Given the description of an element on the screen output the (x, y) to click on. 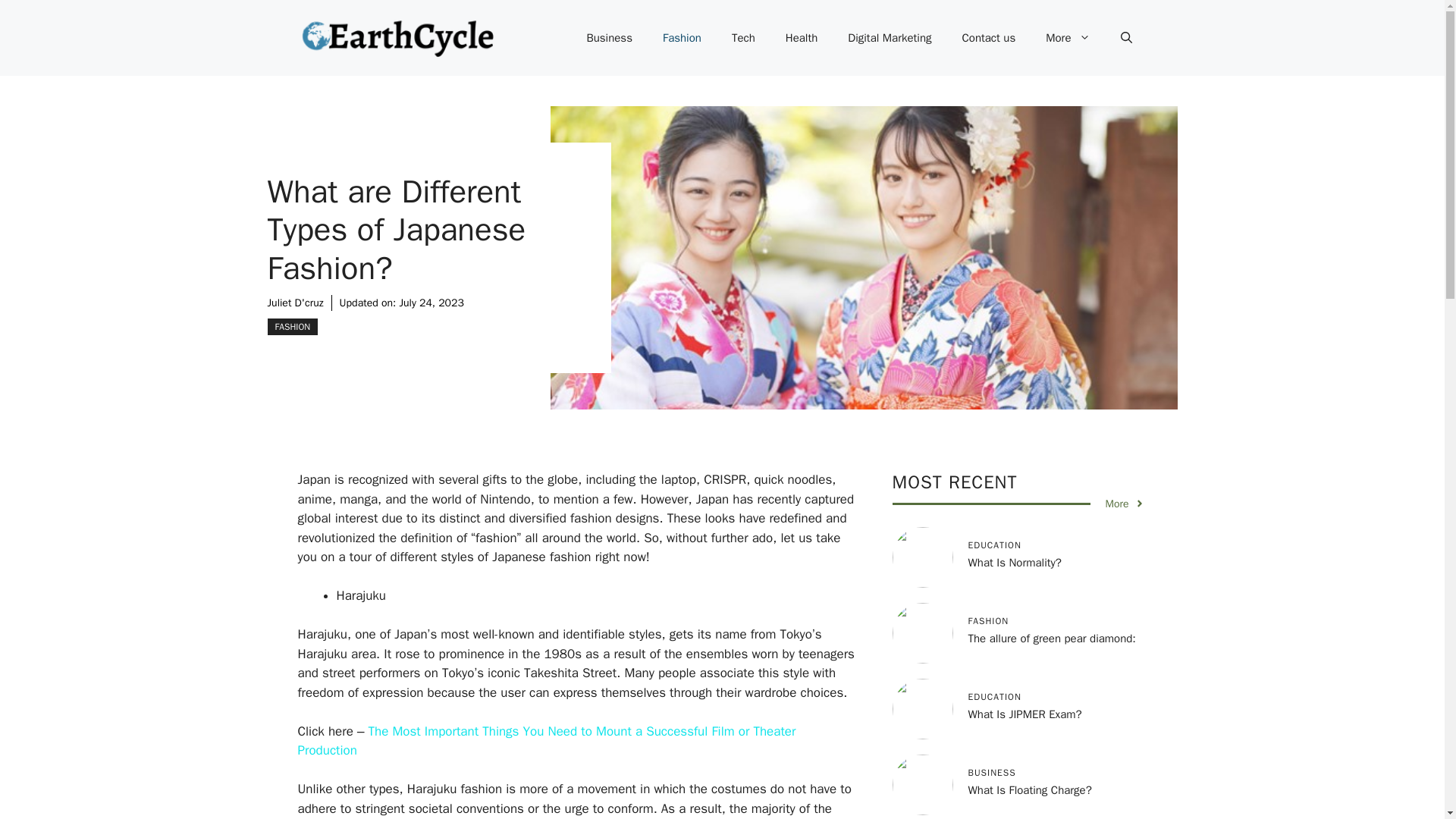
Contact us (988, 37)
Business (608, 37)
Fashion (681, 37)
More (1124, 503)
Health (801, 37)
Tech (743, 37)
FASHION (291, 326)
What Is Floating Charge? (1029, 789)
Juliet D'cruz (294, 302)
The allure of green pear diamond: (1051, 638)
What Is JIPMER Exam? (1024, 714)
More (1067, 37)
Digital Marketing (889, 37)
What Is Normality? (1014, 562)
